Given the description of an element on the screen output the (x, y) to click on. 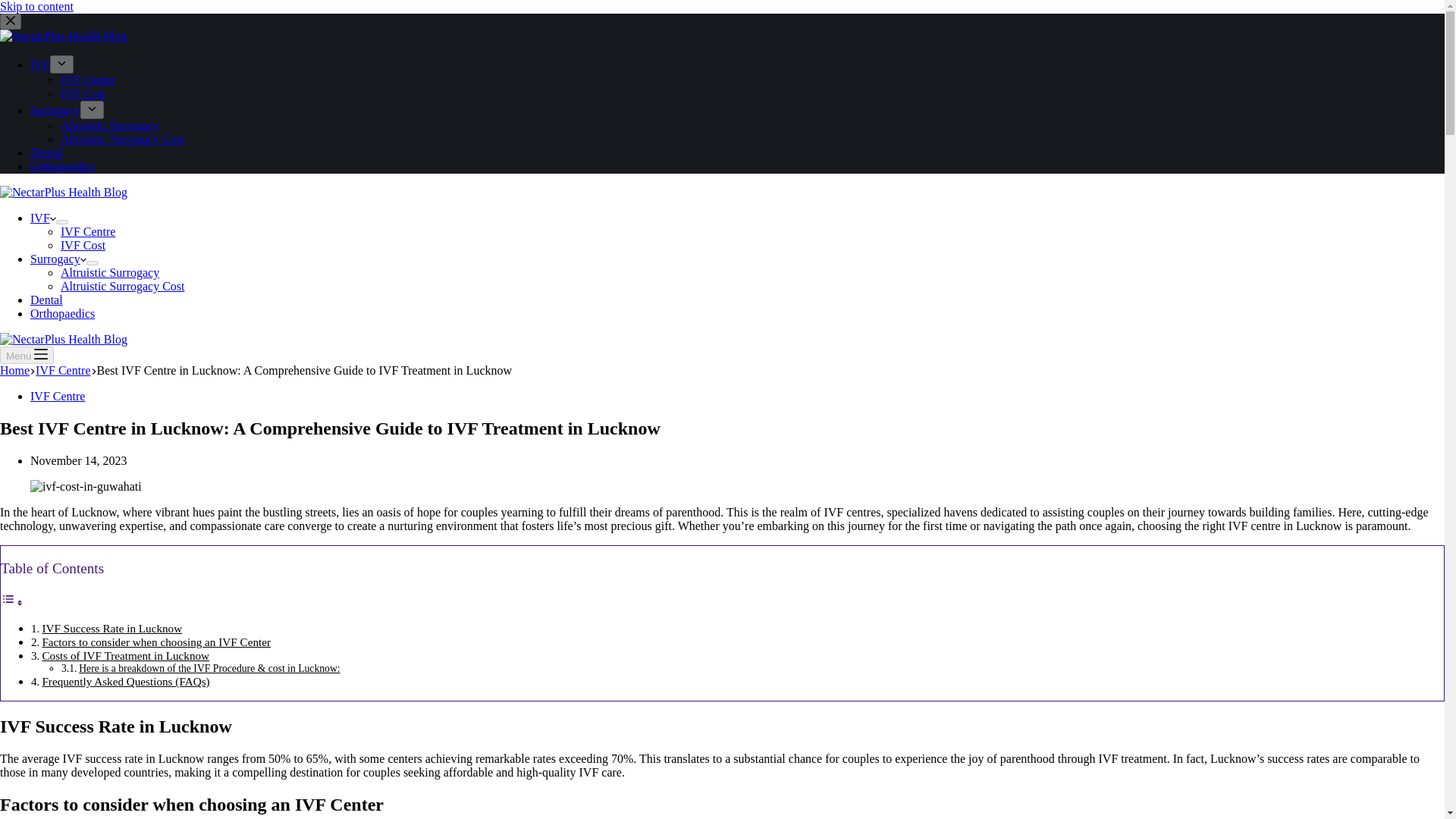
Costs of IVF Treatment in Lucknow (125, 655)
Factors to consider when choosing an IVF Center (156, 641)
Costs of IVF Treatment in Lucknow (125, 655)
Altruistic Surrogacy Cost (122, 286)
Altruistic Surrogacy Cost (122, 138)
IVF (39, 64)
Home (14, 369)
Skip to content (37, 6)
Surrogacy (55, 110)
Altruistic Surrogacy (109, 272)
